Given the description of an element on the screen output the (x, y) to click on. 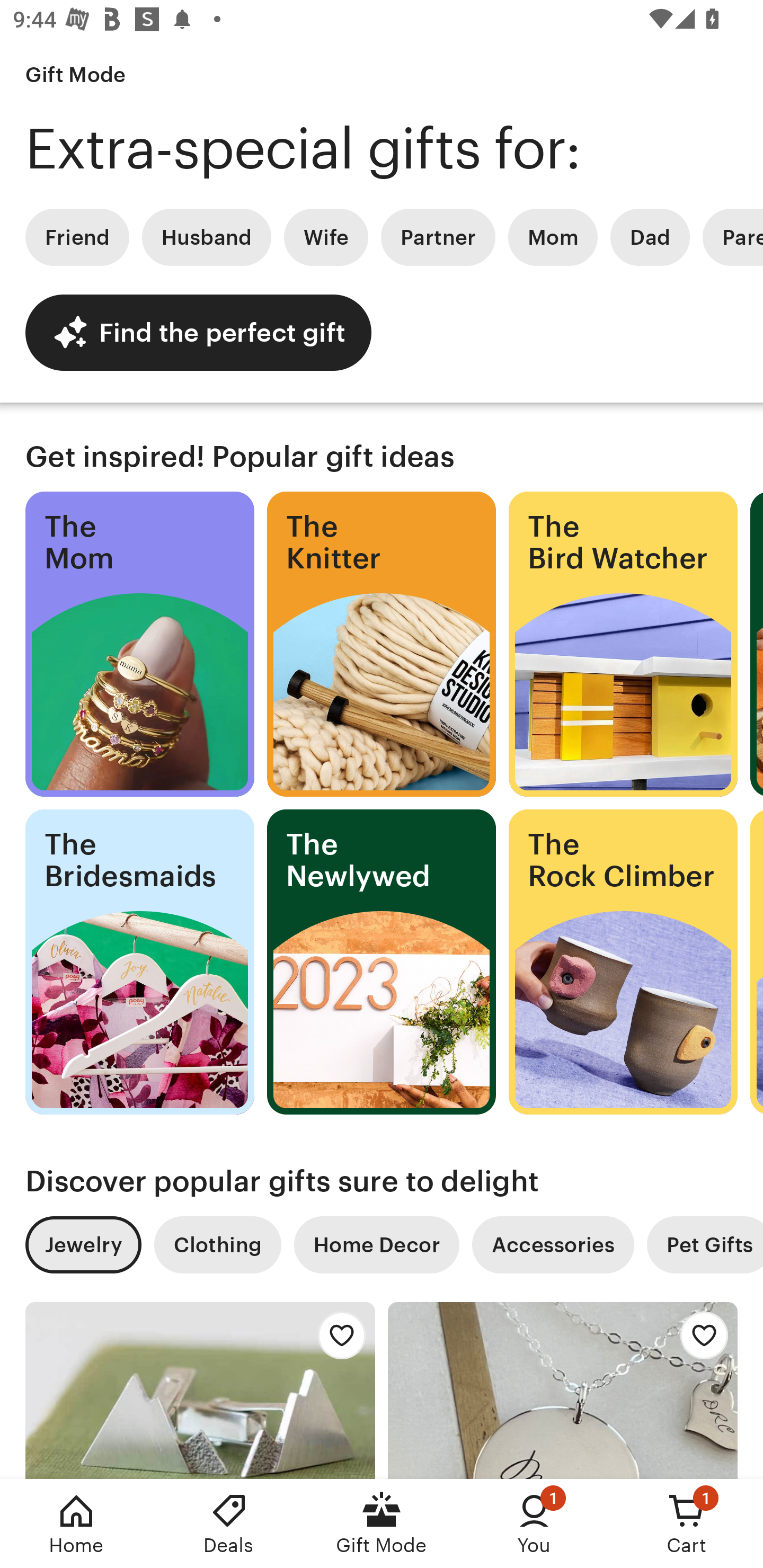
Friend (76, 237)
Husband (206, 237)
Wife (325, 237)
Partner (437, 237)
Mom (552, 237)
Dad (649, 237)
Find the perfect gift (198, 332)
The Mom (139, 644)
The Knitter (381, 644)
The Bird Watcher (622, 644)
The Bridesmaids (139, 961)
The Newlywed (381, 961)
The Rock Climber (622, 961)
Jewelry (83, 1244)
Clothing (217, 1244)
Home Decor (376, 1244)
Accessories (553, 1244)
Pet Gifts (705, 1244)
Home (76, 1523)
Deals (228, 1523)
You, 1 new notification You (533, 1523)
Cart, 1 new notification Cart (686, 1523)
